Given the description of an element on the screen output the (x, y) to click on. 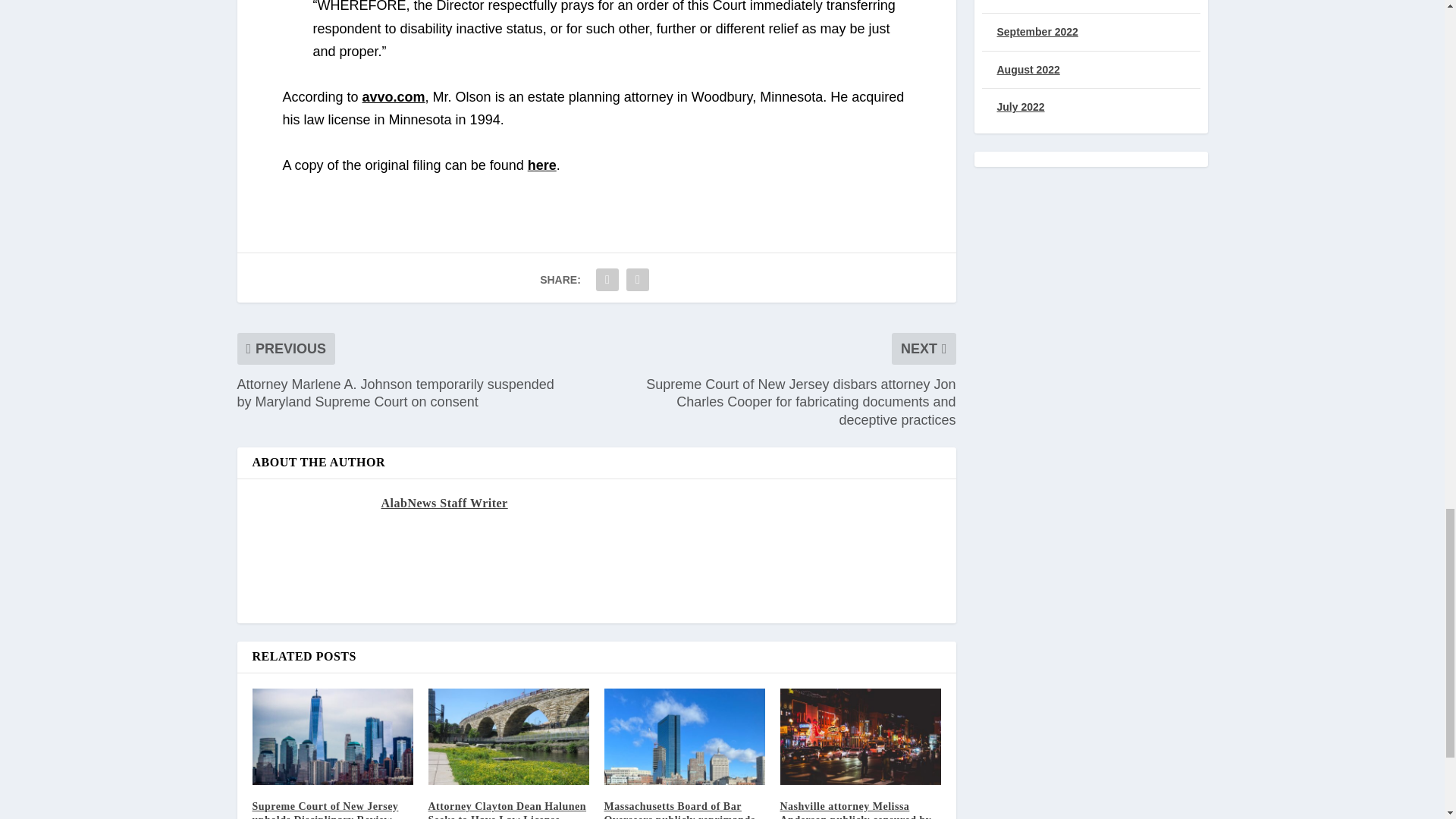
here (541, 165)
avvo.com (393, 96)
View all posts by AlabNews Staff Writer (443, 502)
AlabNews Staff Writer (443, 502)
